Given the description of an element on the screen output the (x, y) to click on. 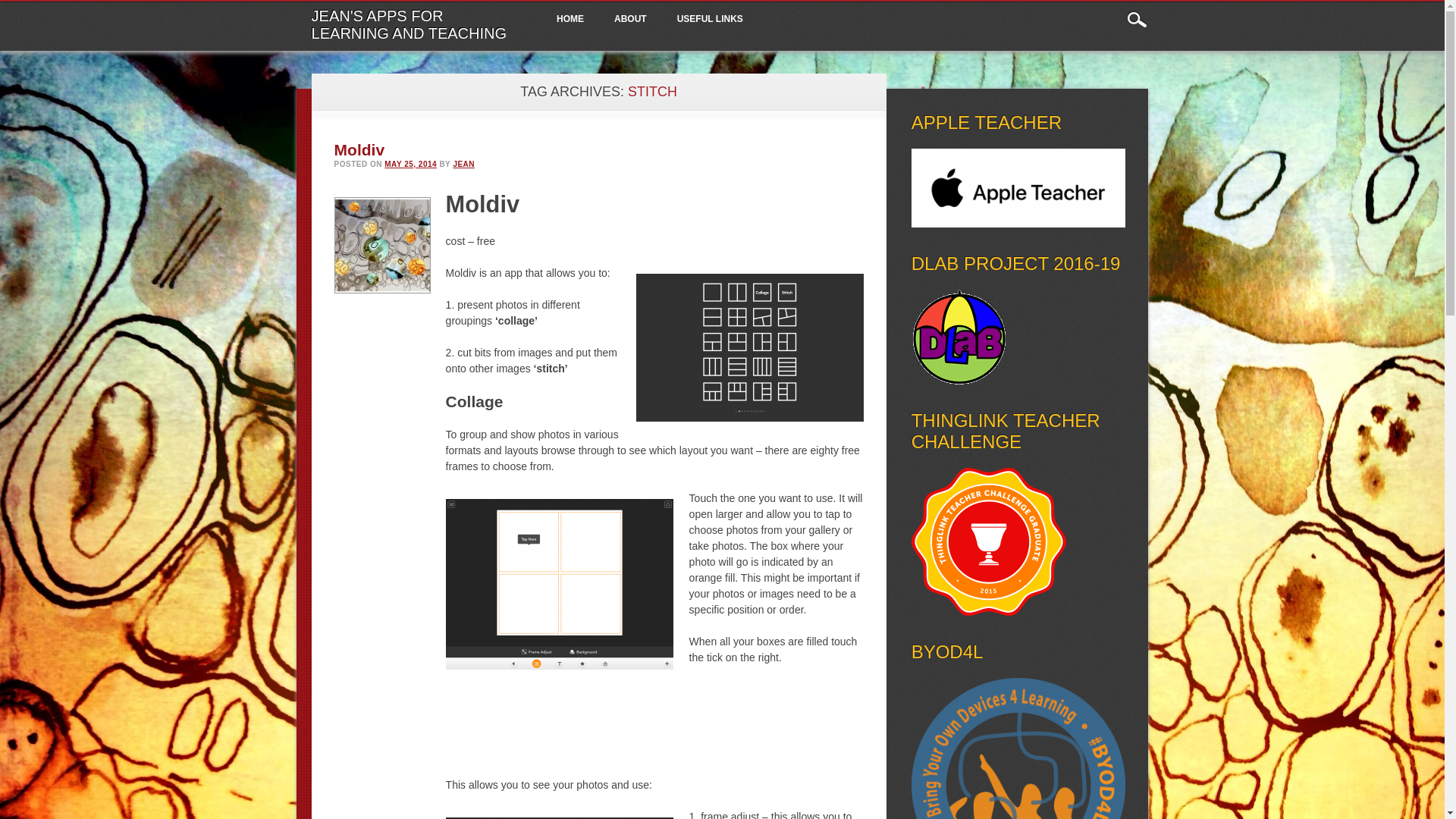
MAY 25, 2014 (410, 163)
JEAN (463, 163)
JEAN'S APPS FOR LEARNING AND TEACHING (408, 24)
HOME (569, 20)
ThingLink Teacher Challenge (988, 612)
Moldiv (359, 149)
Jean's Apps for learning and teaching (408, 24)
USEFUL LINKS (710, 20)
View all posts by Jean (463, 163)
ABOUT (630, 20)
